Given the description of an element on the screen output the (x, y) to click on. 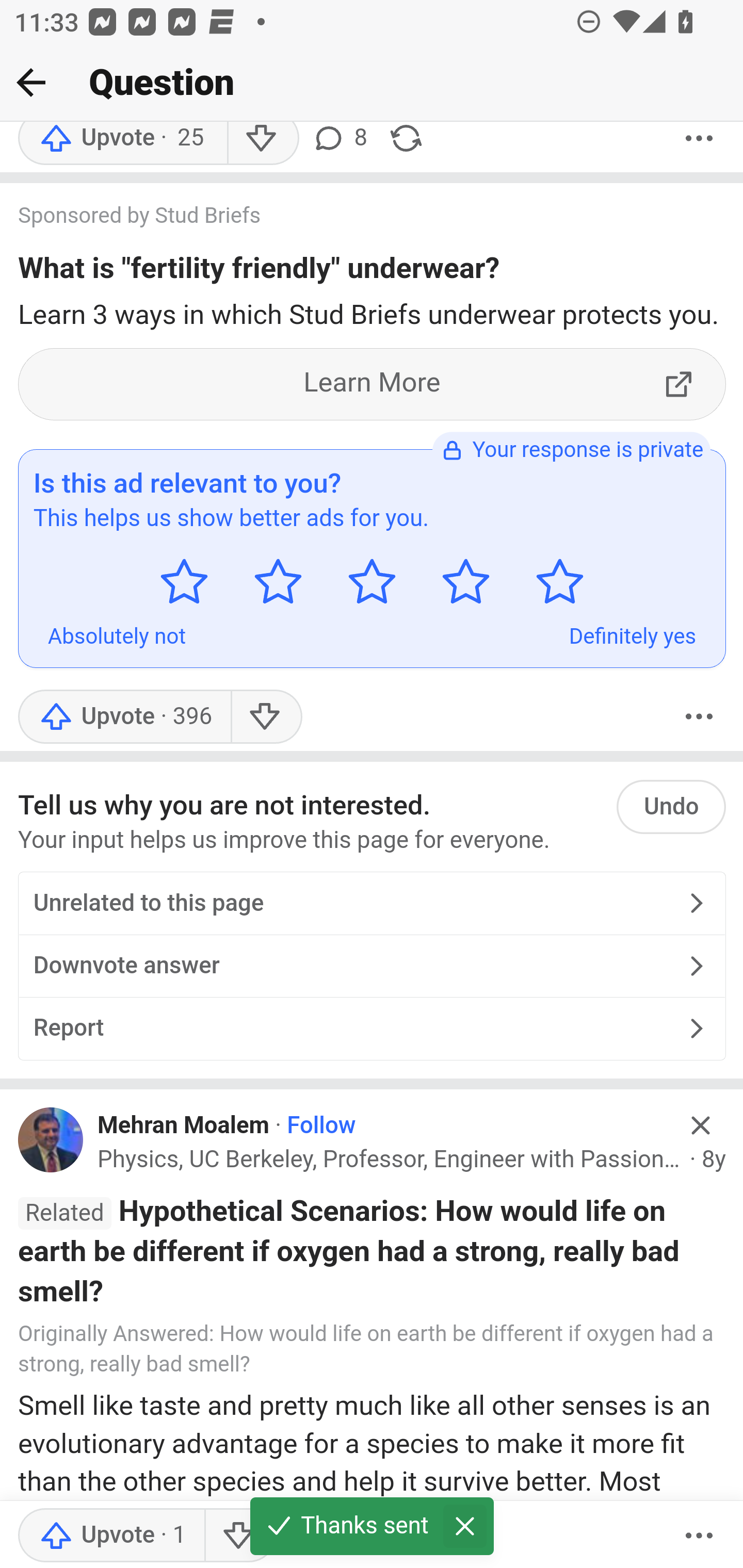
Back (30, 82)
Sponsored by Stud Briefs (352, 217)
What is "fertility friendly" underwear? (258, 271)
Learn More ExternalLink (372, 383)
Upvote (124, 716)
Downvote (266, 716)
More (699, 716)
Undo (671, 806)
Unrelated to this page (371, 904)
Downvote answer (371, 966)
Report (371, 1028)
Hide (700, 1126)
Profile photo for Mehran Moalem (50, 1140)
Mehran Moalem (184, 1125)
Follow (321, 1125)
Thanks sent (372, 1532)
Upvote (111, 1535)
More (699, 1535)
